Given the description of an element on the screen output the (x, y) to click on. 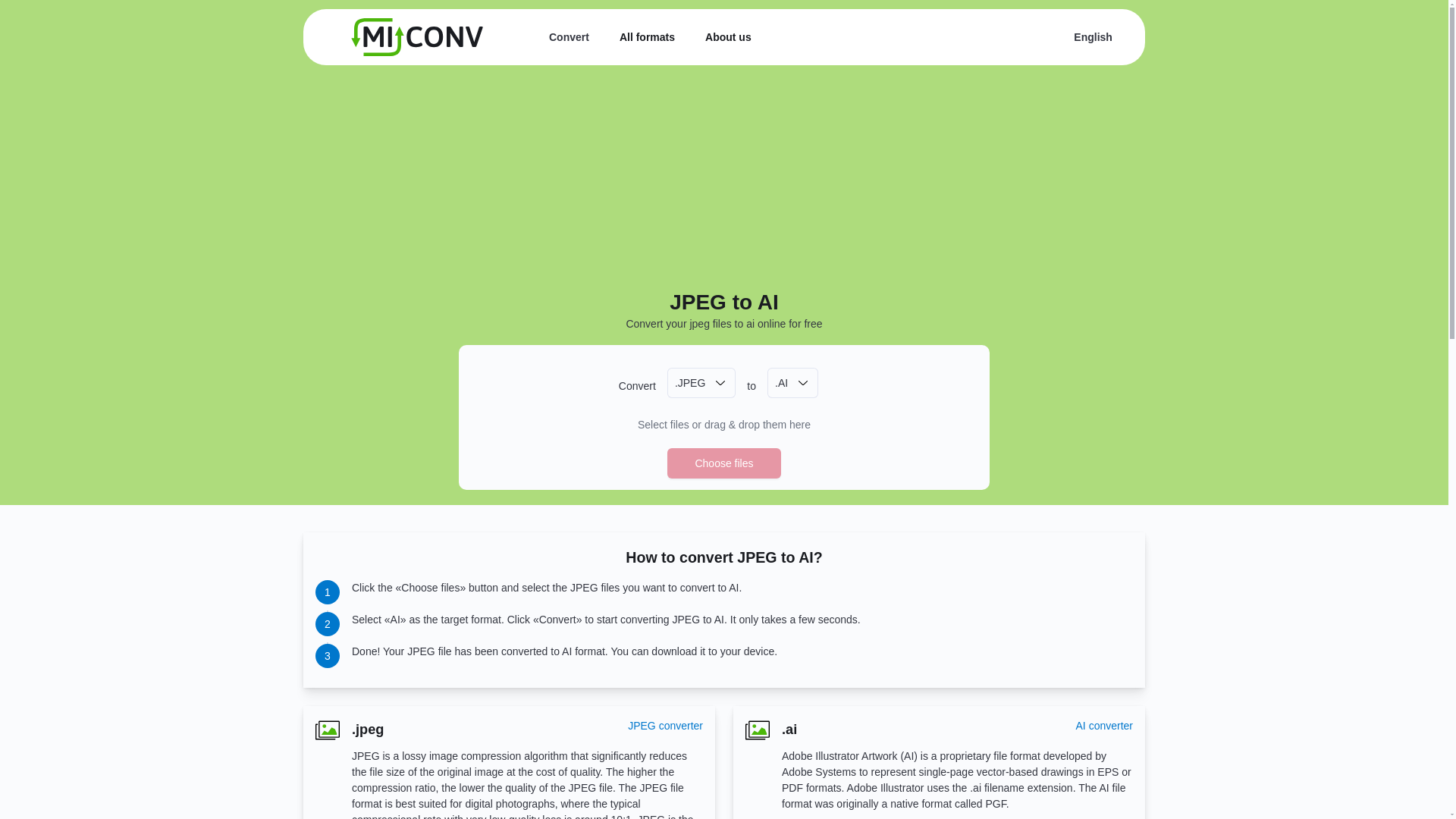
All formats (647, 37)
About us (727, 37)
